Given the description of an element on the screen output the (x, y) to click on. 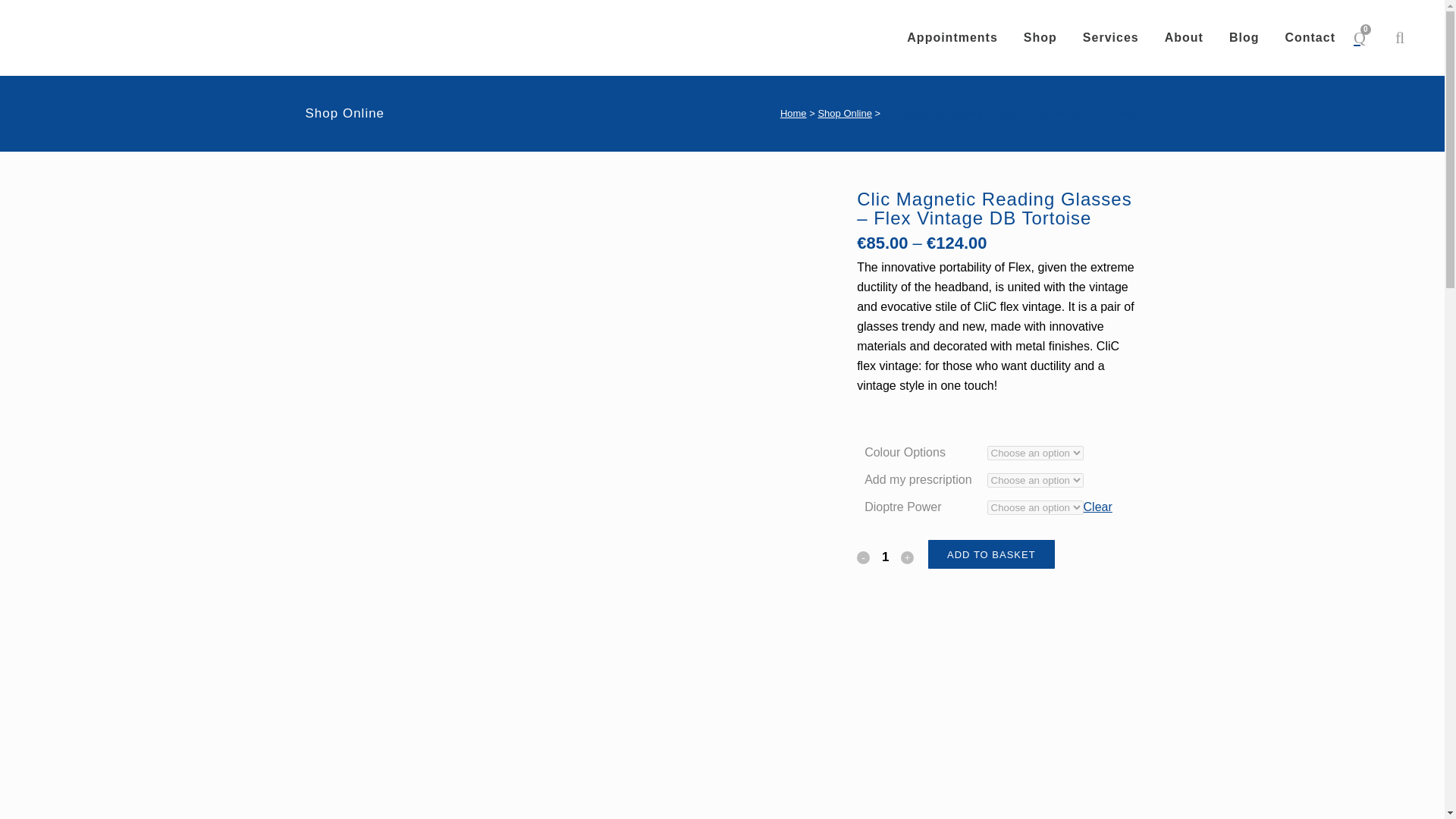
1 (885, 557)
- (863, 557)
Appointments (951, 38)
Services (1110, 38)
